Given the description of an element on the screen output the (x, y) to click on. 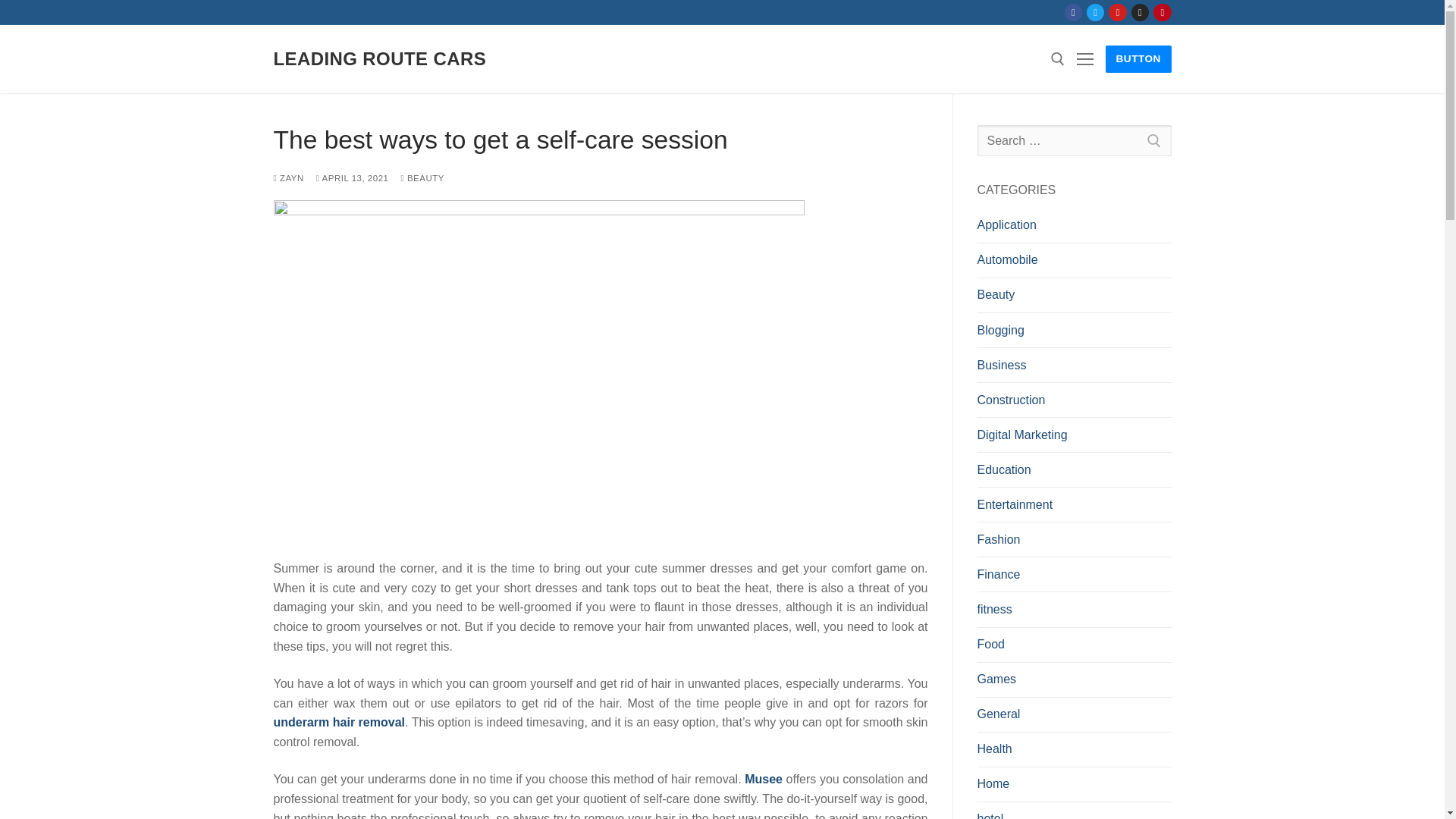
Automobile (1073, 263)
Beauty (1073, 298)
Pinterest (1162, 12)
Facebook (1073, 12)
BUTTON (1138, 59)
ZAYN (287, 177)
Instagram (1139, 12)
Education (1073, 473)
Youtube (1117, 12)
Application (1073, 228)
BEAUTY (422, 177)
LEADING ROUTE CARS (379, 58)
Twitter (1095, 12)
Search for: (1073, 141)
Musee (763, 779)
